Given the description of an element on the screen output the (x, y) to click on. 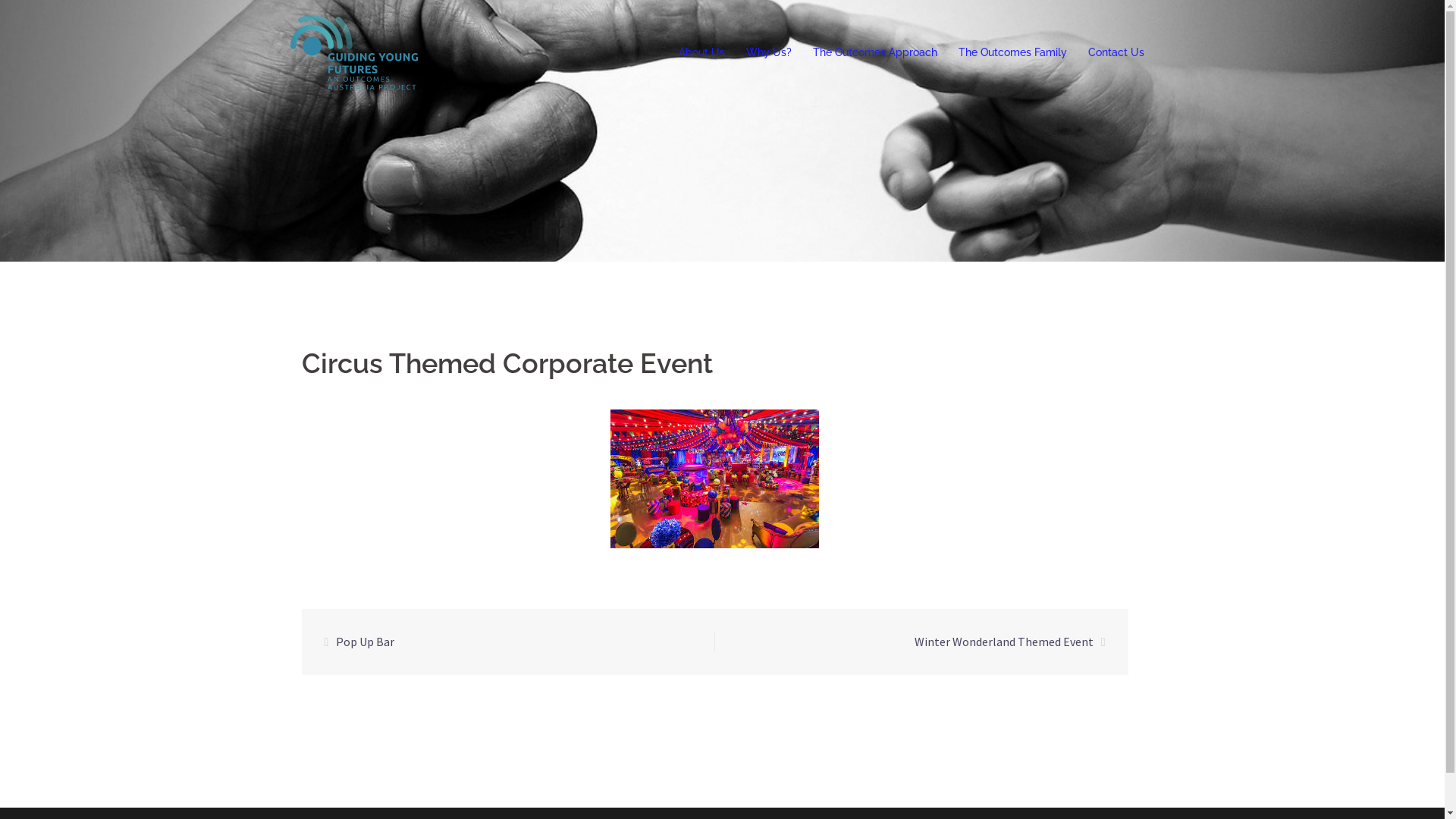
Pop Up Bar Element type: text (364, 641)
The Outcomes Approach Element type: text (874, 52)
About Us Element type: text (700, 52)
The Outcomes Family Element type: text (1012, 52)
Winter Wonderland Themed Event Element type: text (1003, 641)
Contact Us Element type: text (1115, 52)
Young Futures Australia Element type: hover (354, 51)
Why Us? Element type: text (768, 52)
